Given the description of an element on the screen output the (x, y) to click on. 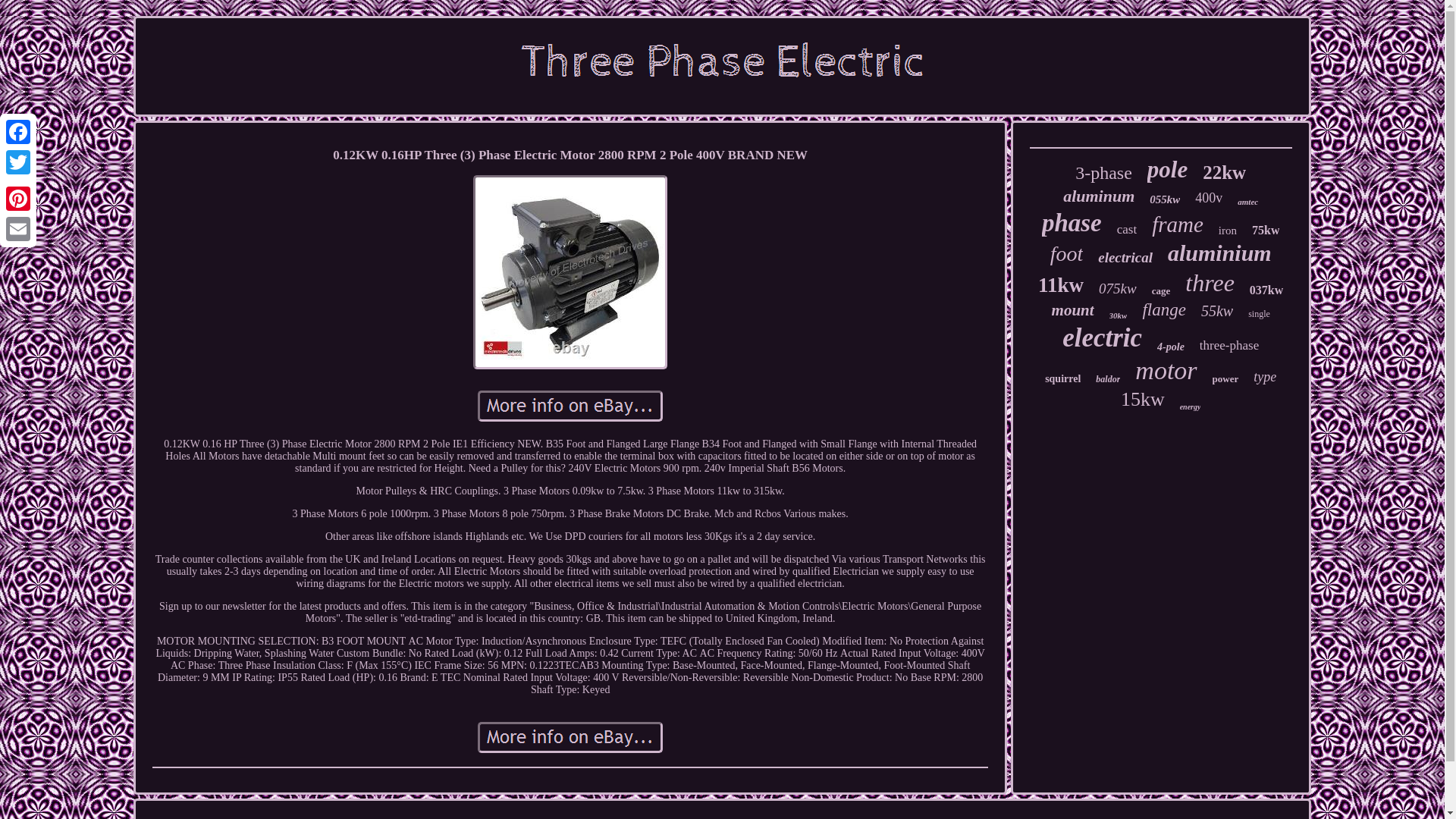
pole (1167, 169)
cast (1126, 229)
three (1209, 283)
55kw (1217, 311)
electric (1101, 337)
phase (1072, 223)
Email (17, 228)
055kw (1164, 199)
Facebook (17, 132)
cage (1160, 291)
